Given the description of an element on the screen output the (x, y) to click on. 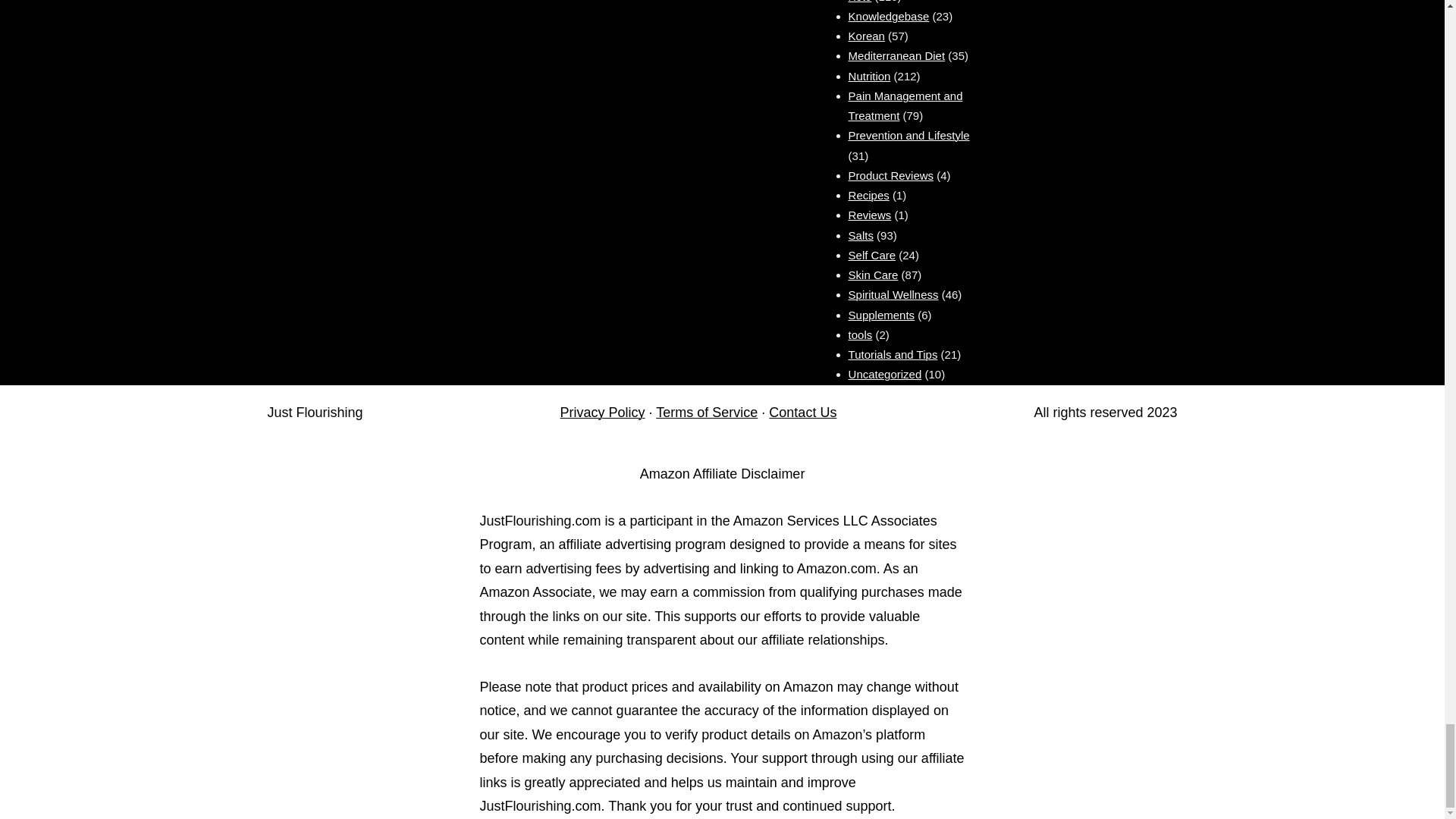
Korean (866, 35)
Knowledgebase (889, 15)
Mediterranean Diet (896, 55)
Recipes (868, 195)
Pain Management and Treatment (905, 105)
Product Reviews (891, 174)
Prevention and Lifestyle (908, 134)
Keto (860, 1)
Nutrition (869, 75)
